Given the description of an element on the screen output the (x, y) to click on. 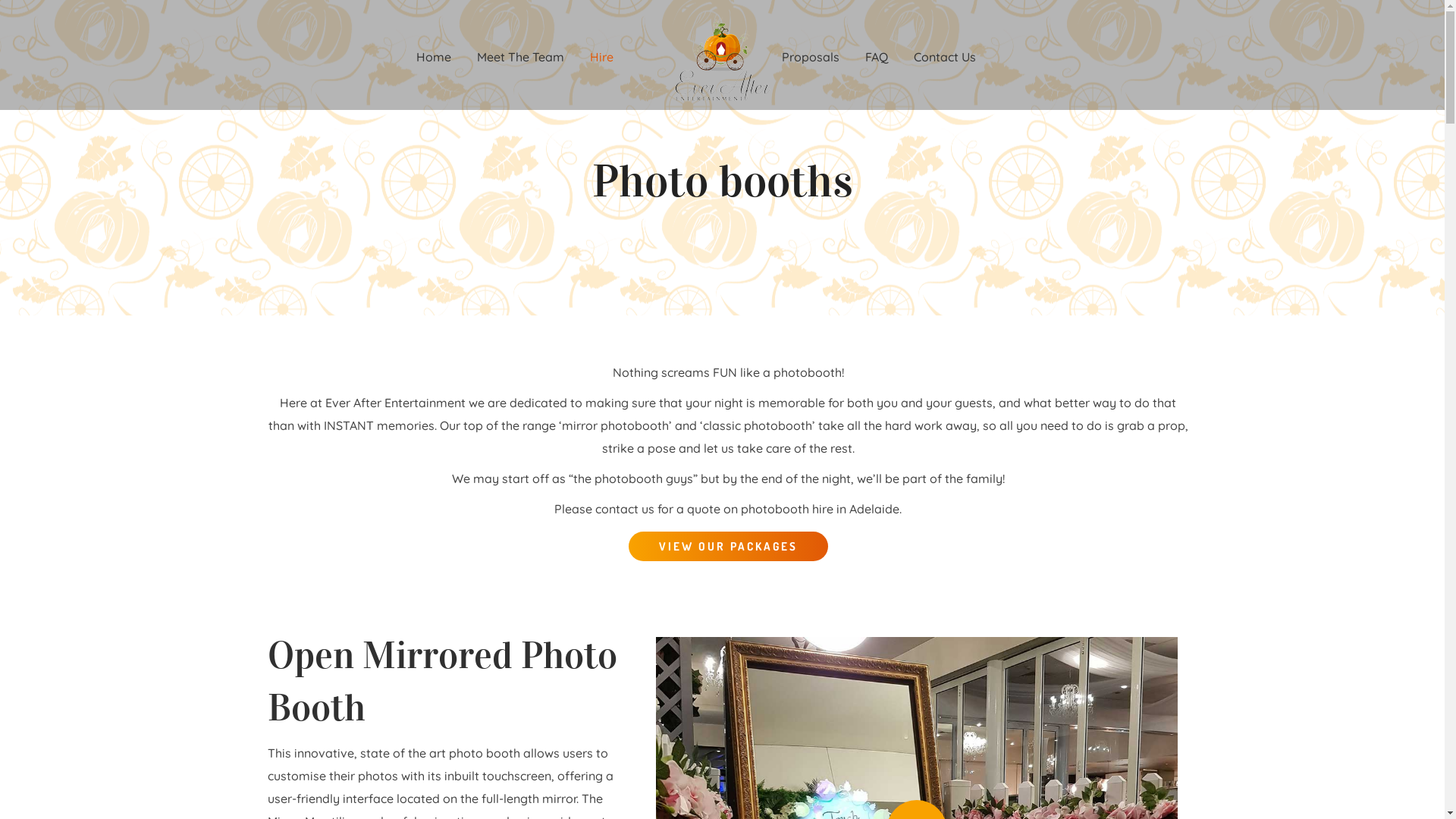
VIEW OUR PACKAGES Element type: text (727, 546)
Home Element type: text (433, 56)
Contact Us Element type: text (944, 56)
Hire Element type: text (600, 56)
Proposals Element type: text (810, 56)
FAQ Element type: text (876, 56)
Meet The Team Element type: text (520, 56)
